Given the description of an element on the screen output the (x, y) to click on. 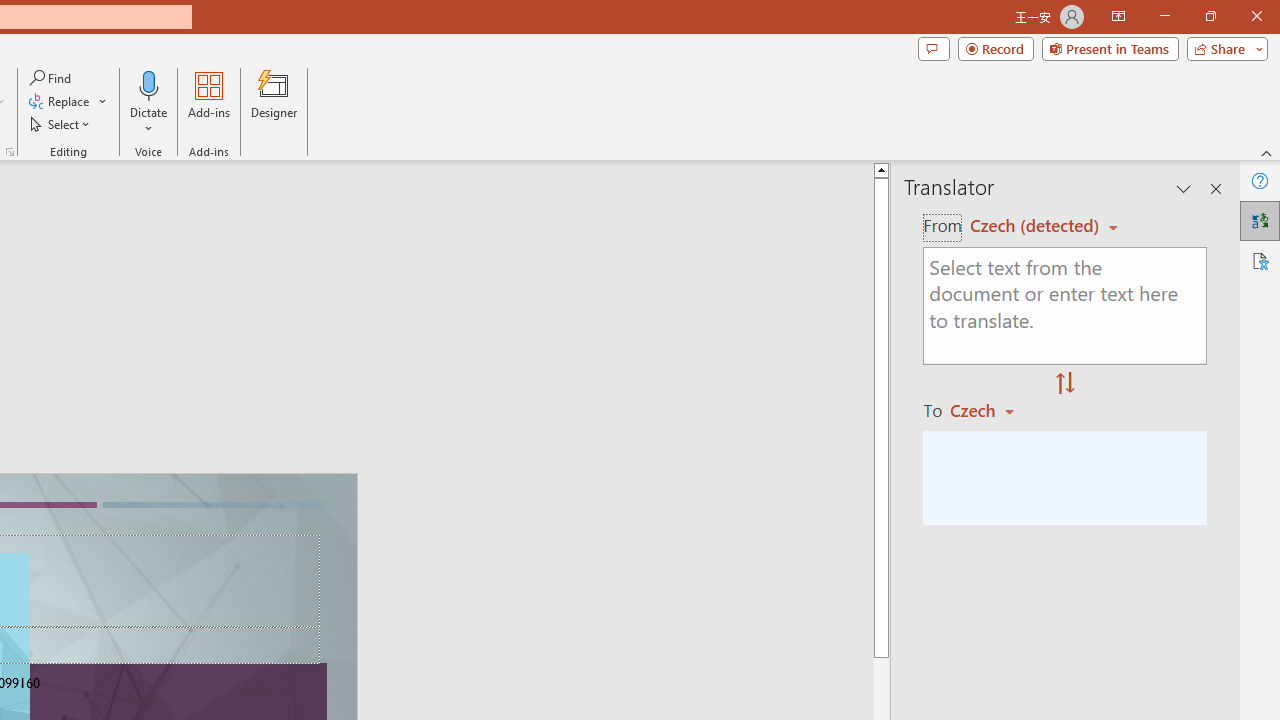
Czech (detected) (1037, 225)
Czech (991, 409)
